Given the description of an element on the screen output the (x, y) to click on. 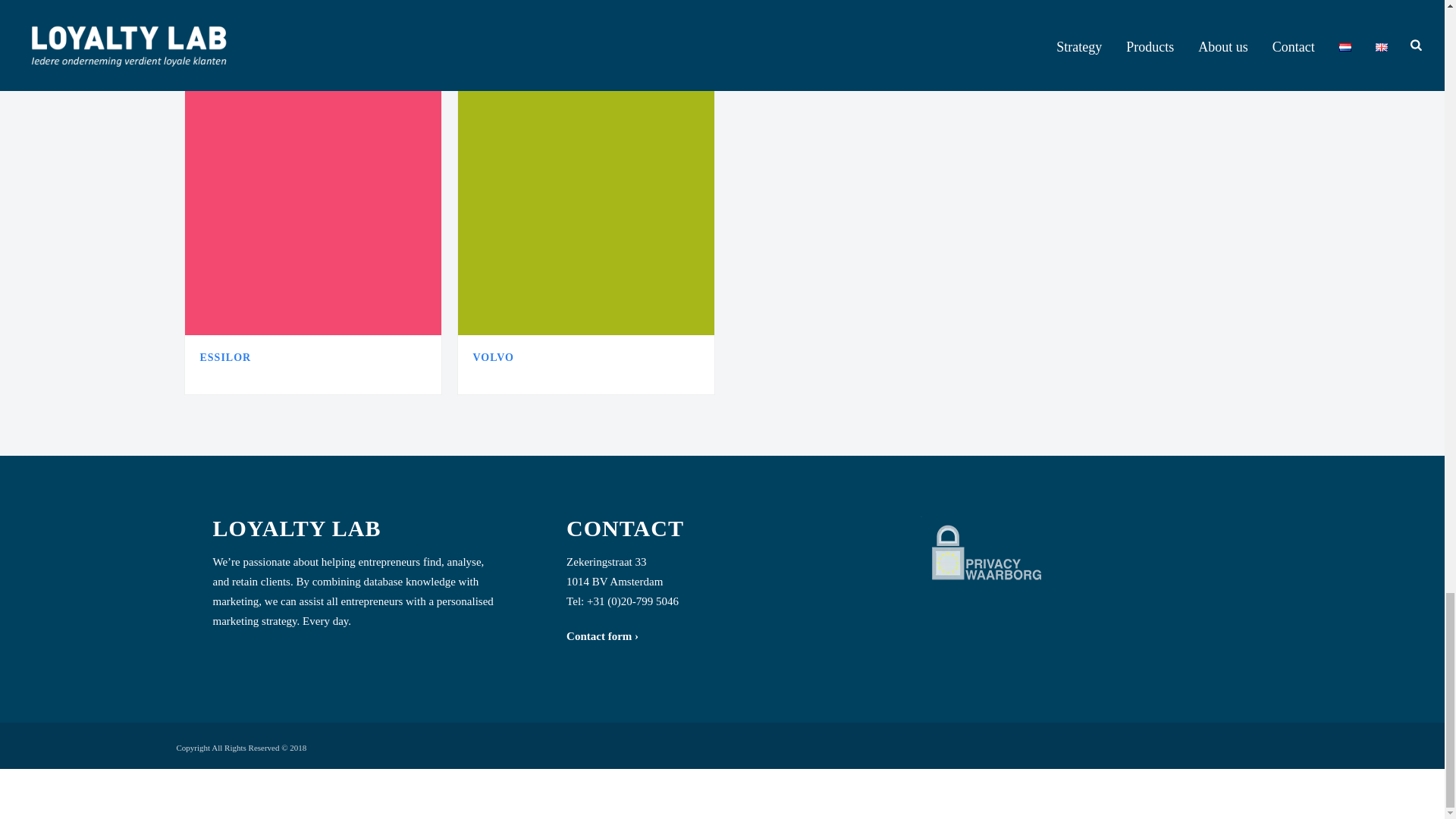
Volvo (586, 206)
ESSILOR (225, 357)
Essilor (312, 206)
VOLVO (494, 357)
